Given the description of an element on the screen output the (x, y) to click on. 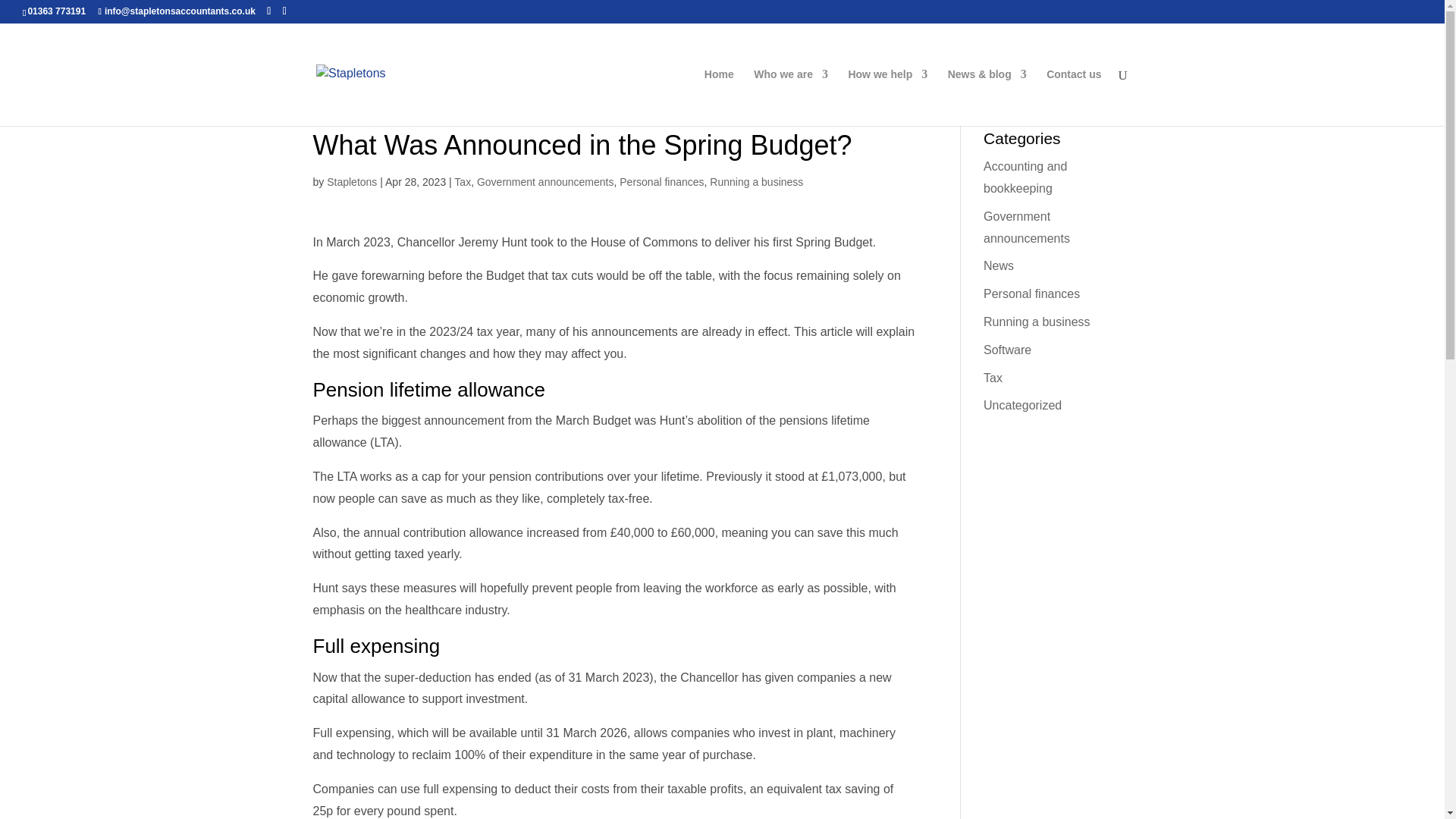
Government announcements (545, 182)
Contact us (1073, 97)
Who we are (791, 97)
Posts by Stapletons (351, 182)
Tax (462, 182)
How we help (887, 97)
Stapletons (351, 182)
01363 773191 (56, 10)
